Given the description of an element on the screen output the (x, y) to click on. 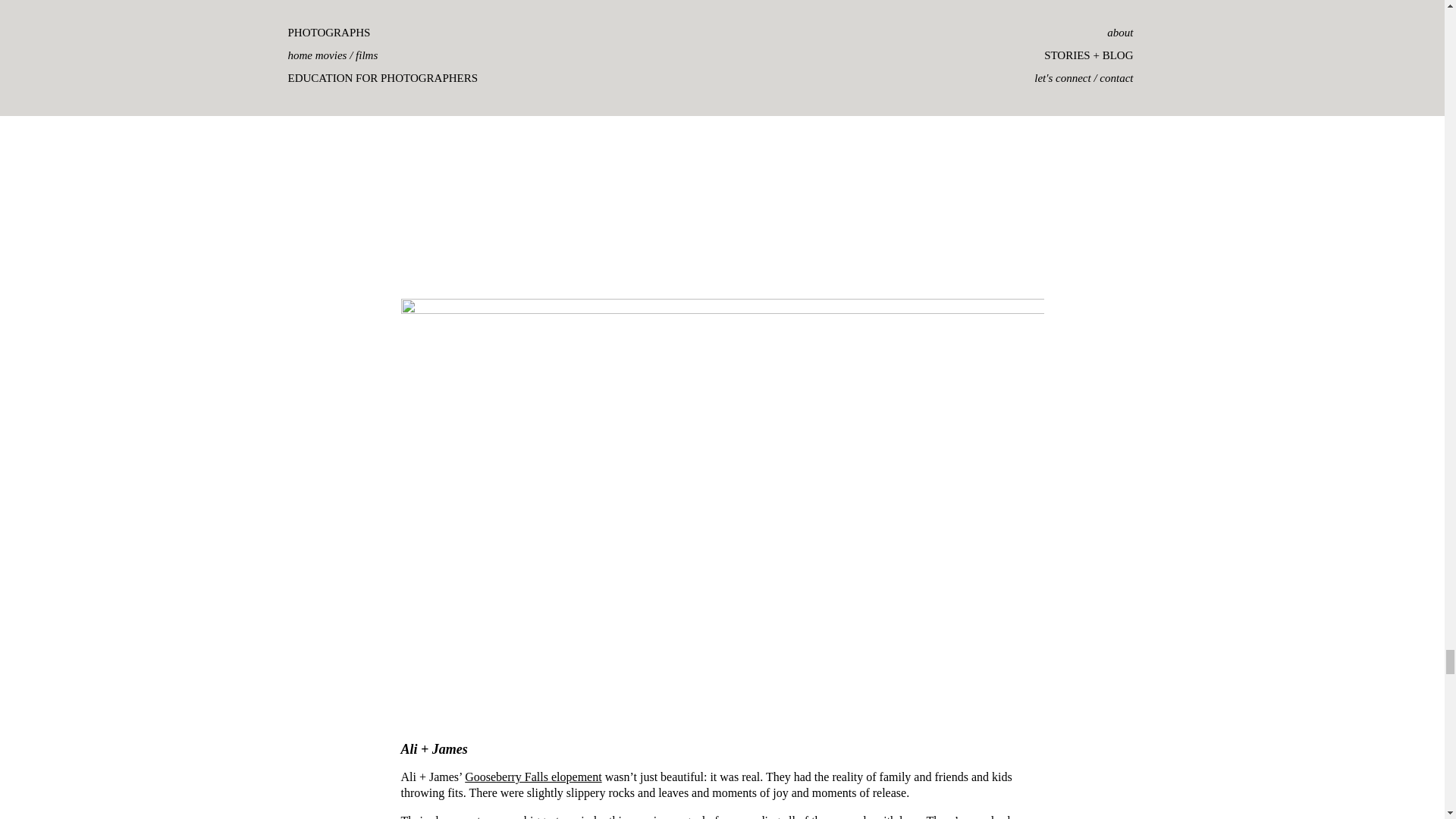
Gooseberry Falls elopement (532, 776)
